Given the description of an element on the screen output the (x, y) to click on. 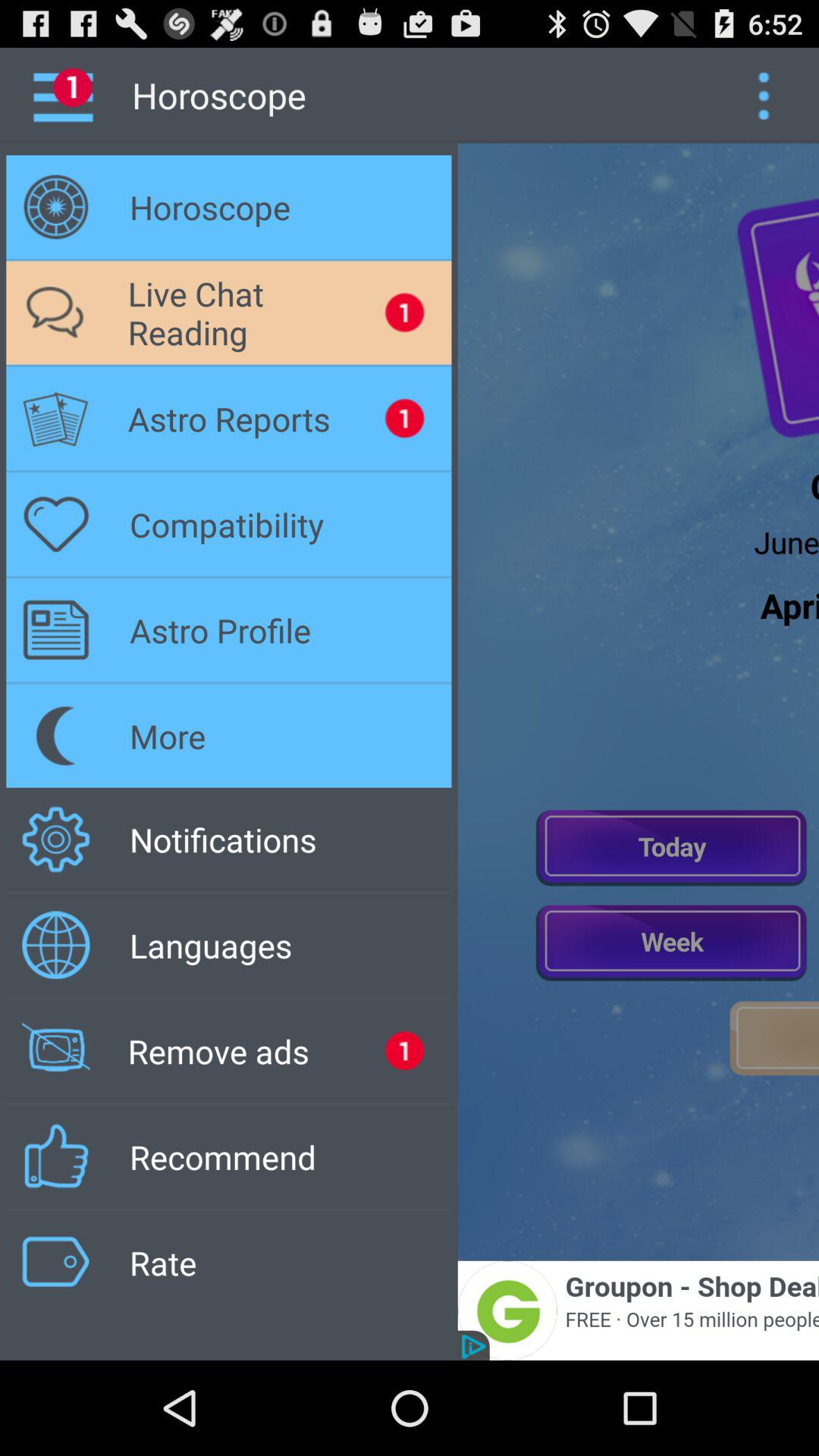
open advertisement (638, 1310)
